Given the description of an element on the screen output the (x, y) to click on. 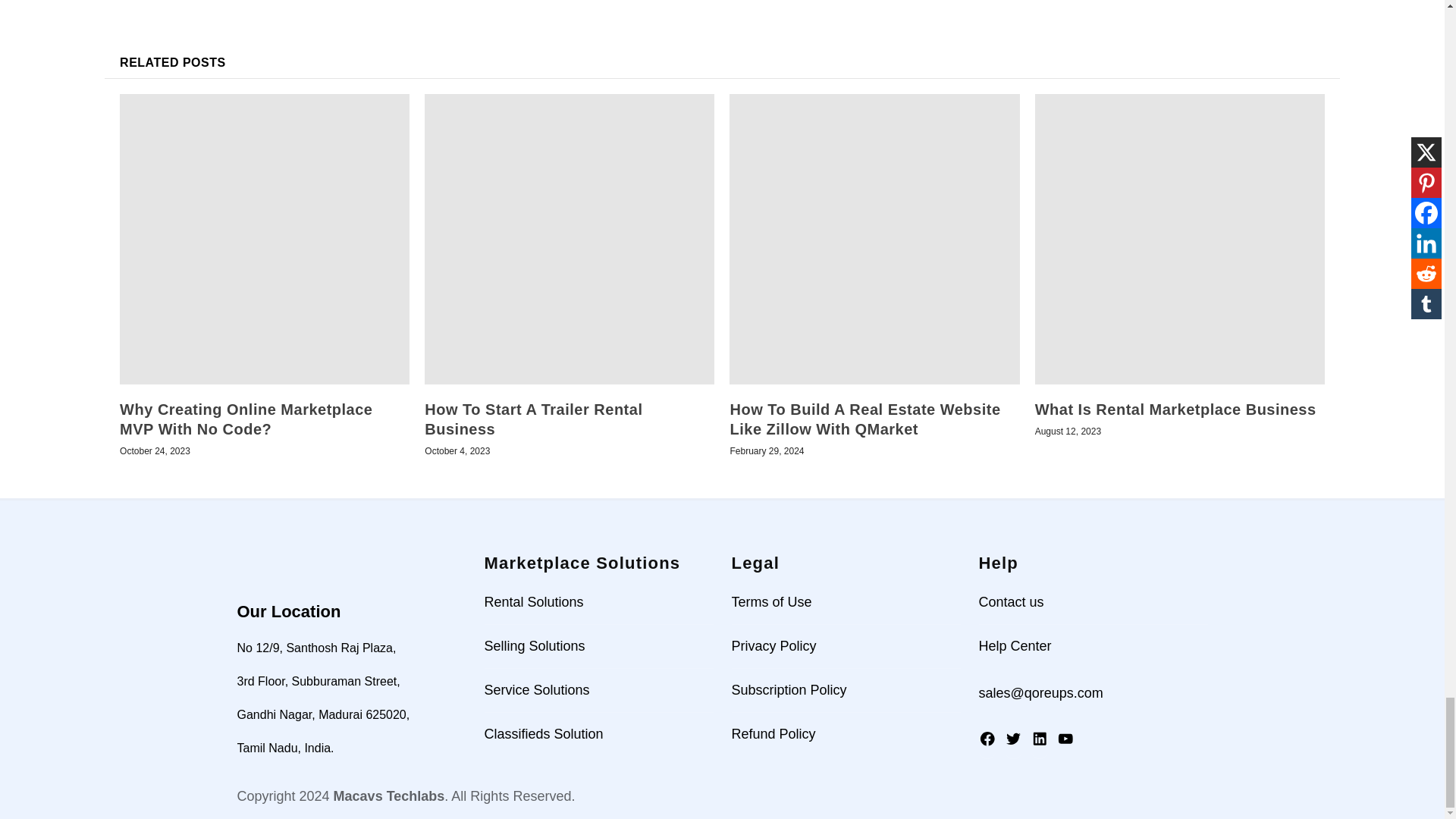
Why Creating Online Marketplace MVP With No Code? (264, 239)
How To Build A Real Estate Website Like Zillow With QMarket (874, 239)
What Is Rental Marketplace Business (1179, 239)
How To Start A Trailer Rental Business (569, 239)
